Given the description of an element on the screen output the (x, y) to click on. 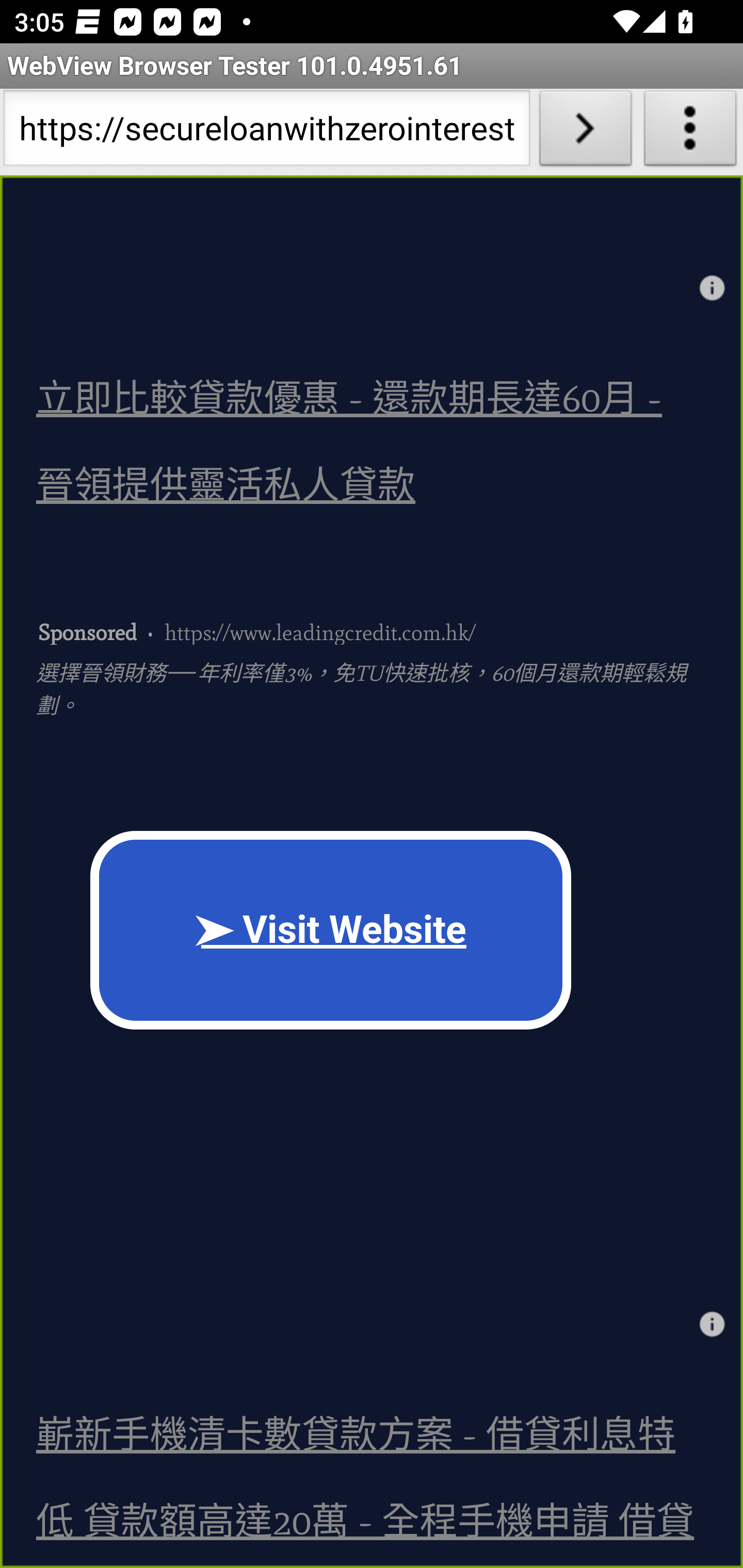
Load URL (585, 132)
About WebView (690, 132)
➤ Visit Website (331, 930)
